Given the description of an element on the screen output the (x, y) to click on. 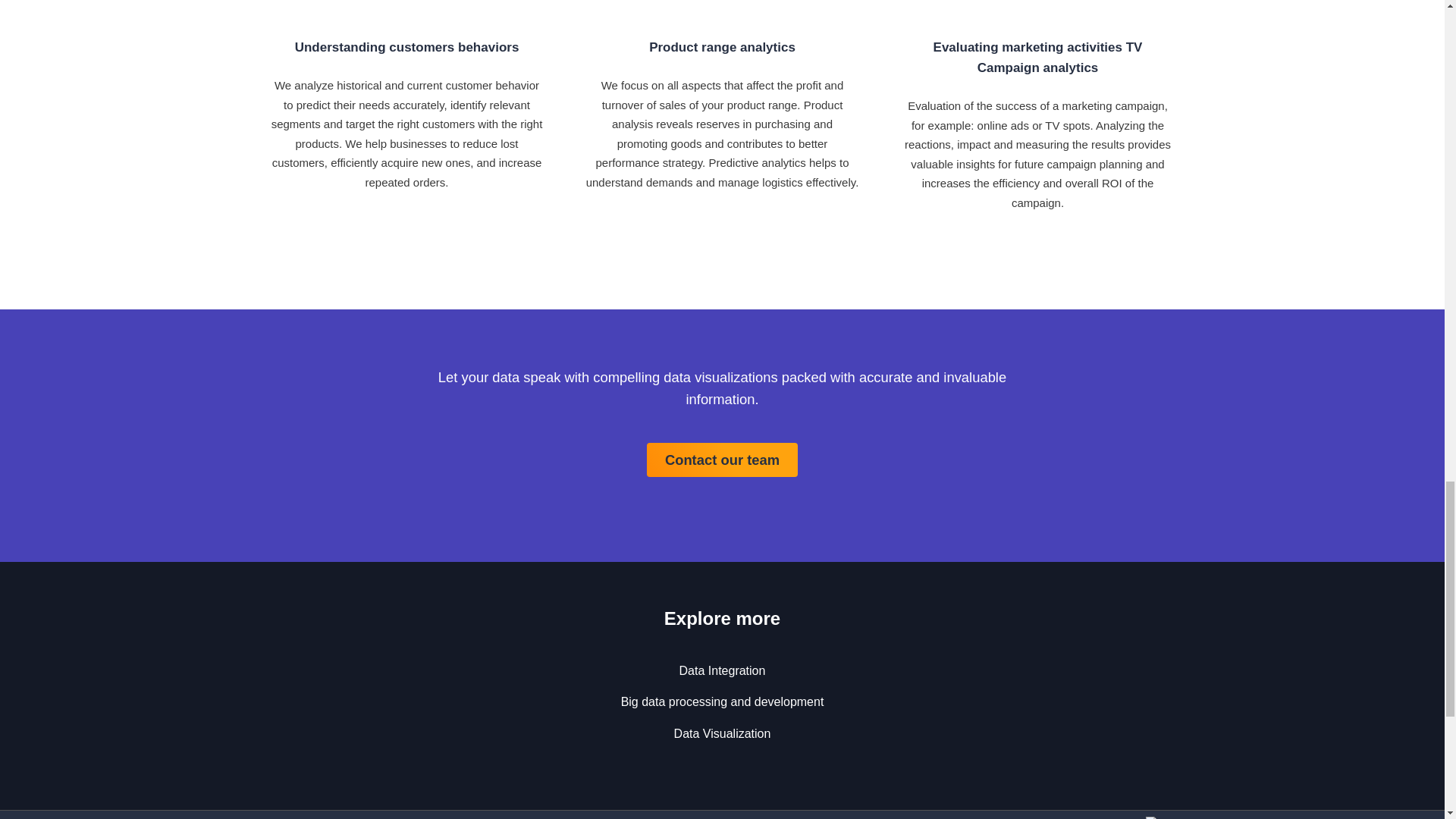
Data Visualization (722, 733)
Big data processing and development (722, 701)
Contact our team (721, 459)
Data Integration (722, 670)
